Given the description of an element on the screen output the (x, y) to click on. 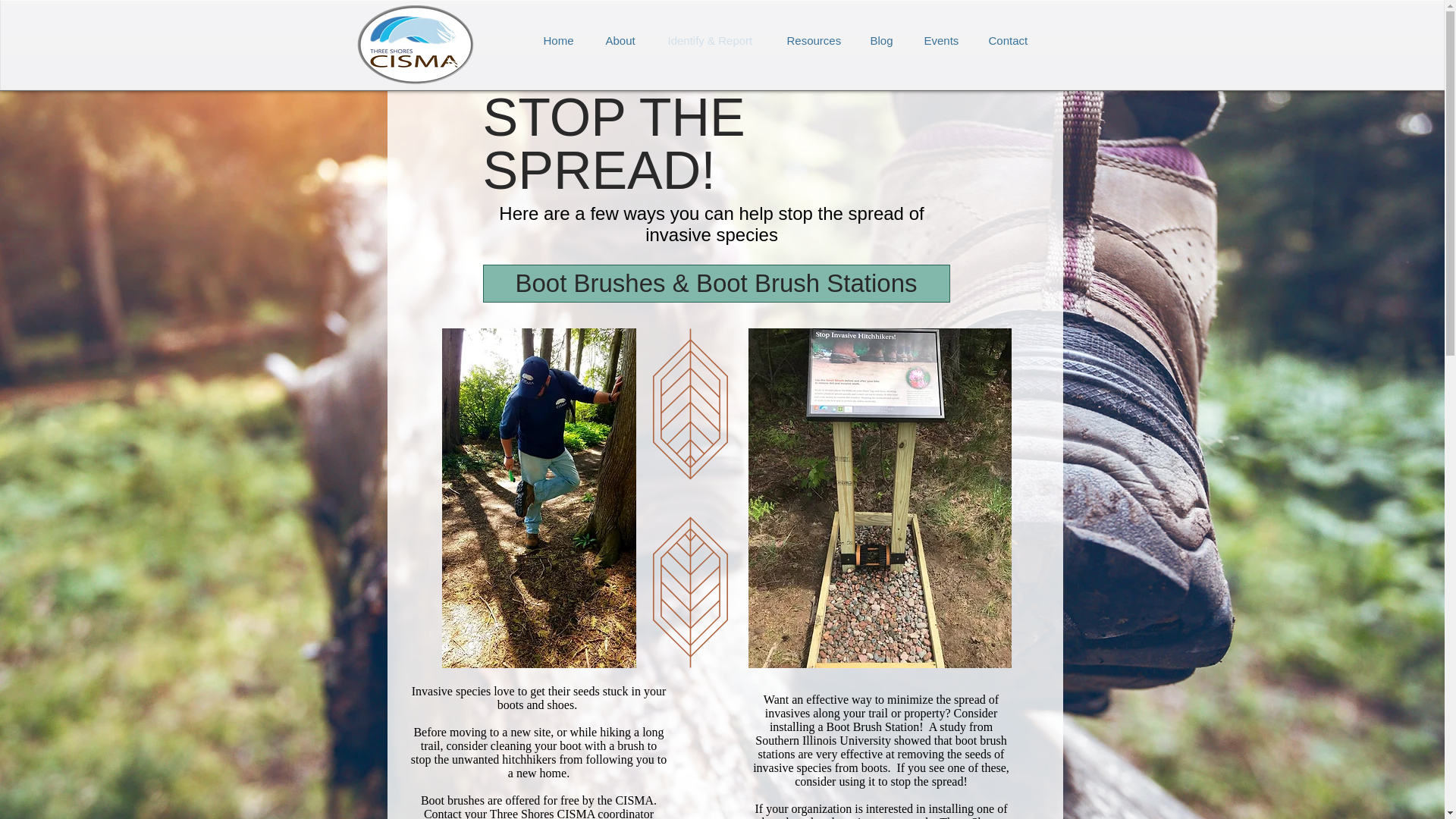
About (620, 40)
Resources (813, 40)
Events (940, 40)
Blog (882, 40)
Contact (1008, 40)
Home (558, 40)
